Given the description of an element on the screen output the (x, y) to click on. 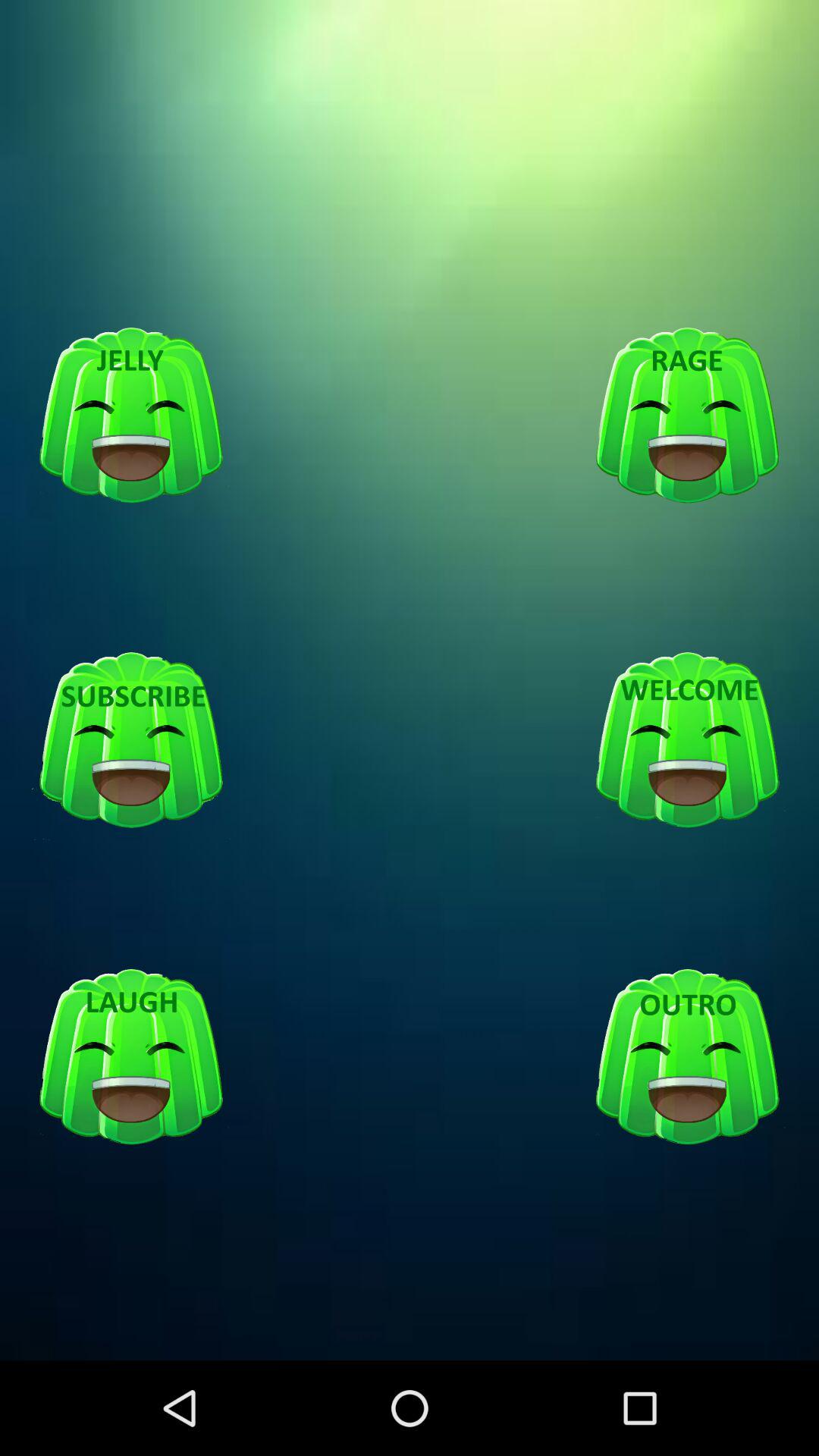
laugh emotion (130, 1057)
